Given the description of an element on the screen output the (x, y) to click on. 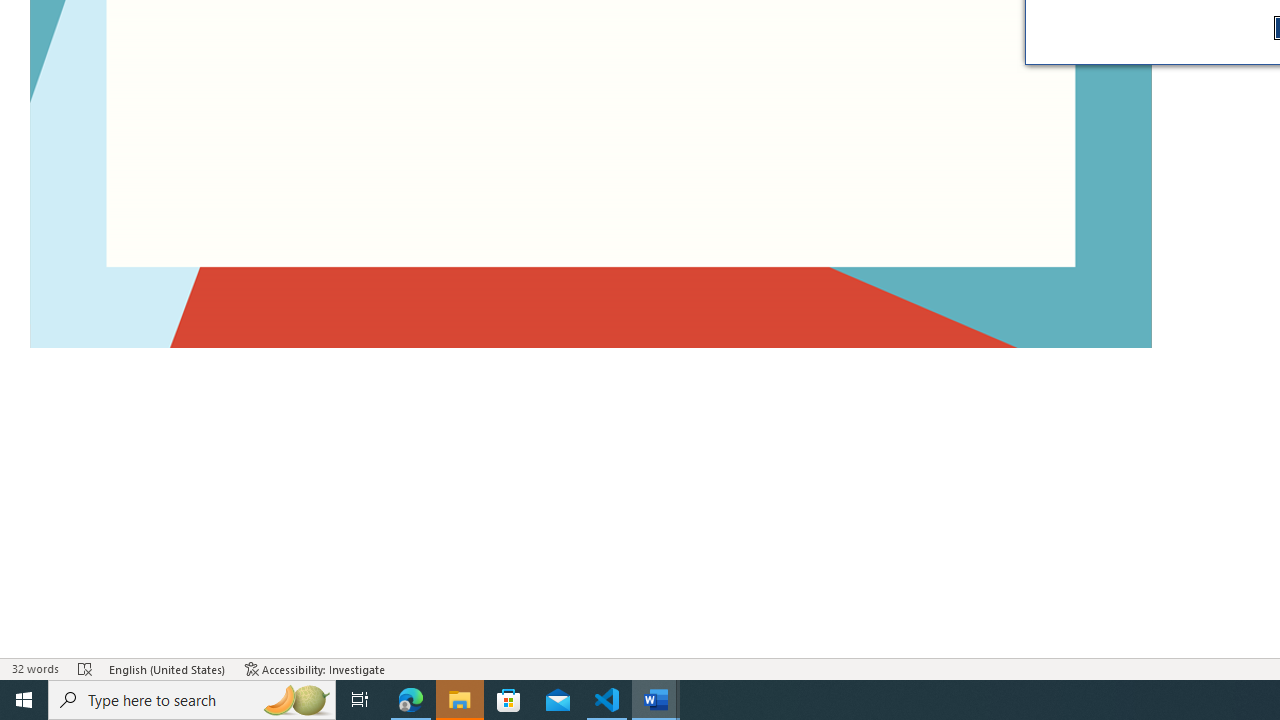
File Explorer - 1 running window (460, 699)
Word Count 32 words (34, 668)
Word - 2 running windows (656, 699)
Microsoft Edge - 1 running window (411, 699)
